Given the description of an element on the screen output the (x, y) to click on. 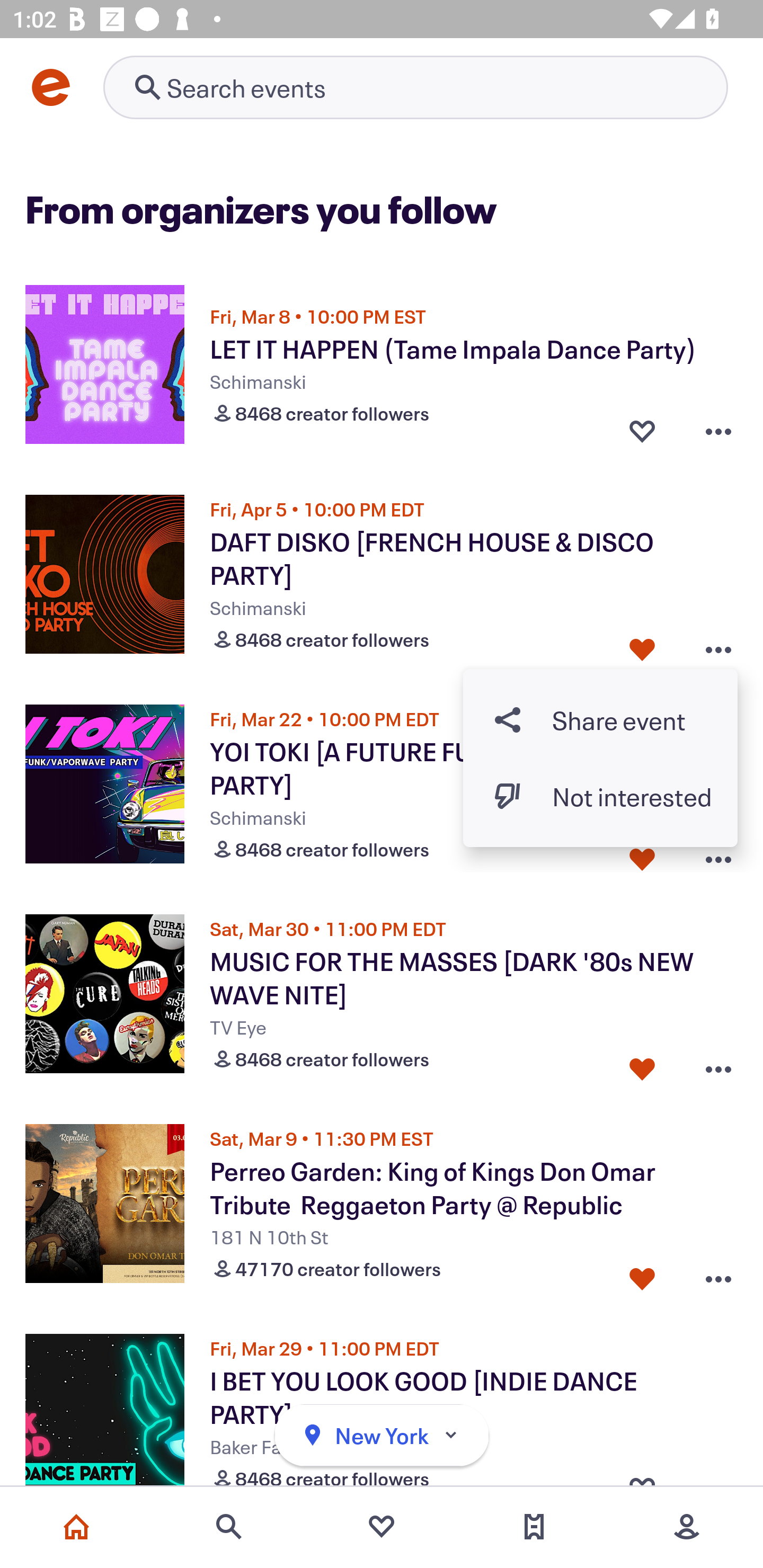
Share button Share event (600, 719)
Dislike event button Not interested (600, 795)
